Given the description of an element on the screen output the (x, y) to click on. 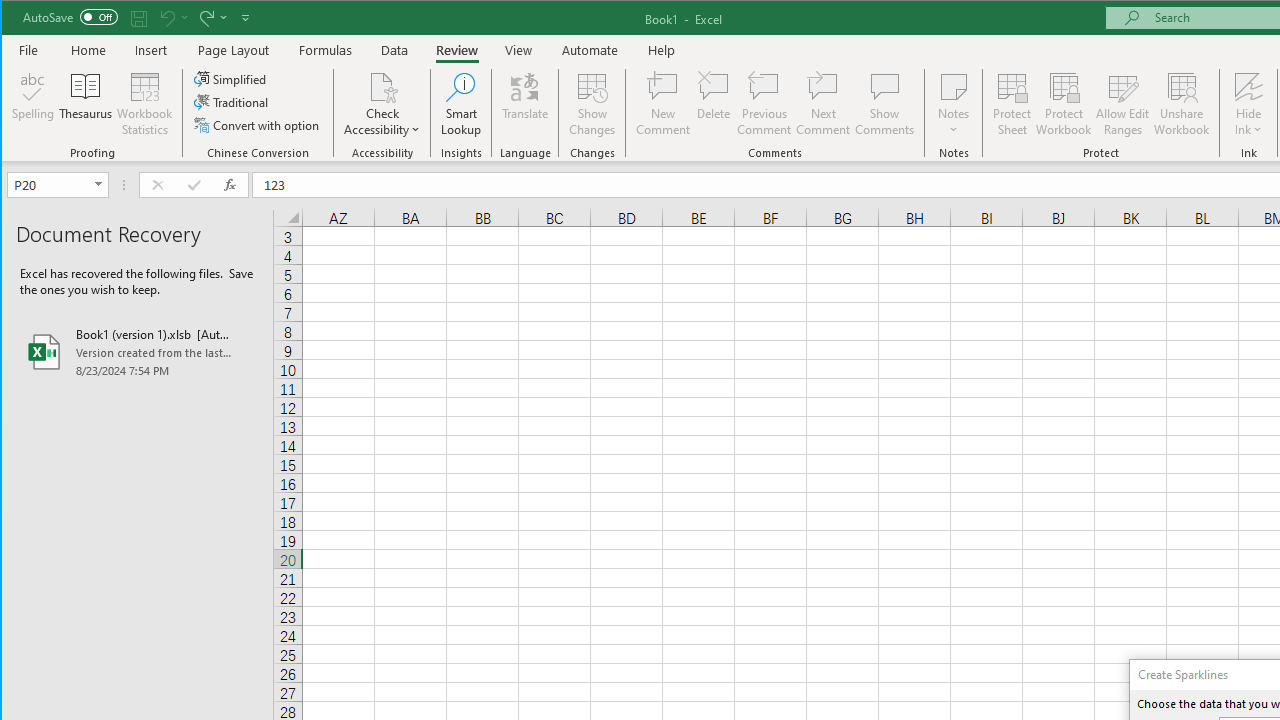
Protect Workbook... (1064, 104)
Convert with option (258, 124)
Next Comment (822, 104)
Translate (525, 104)
Simplified (231, 78)
Traditional (232, 101)
New Comment (662, 104)
